Given the description of an element on the screen output the (x, y) to click on. 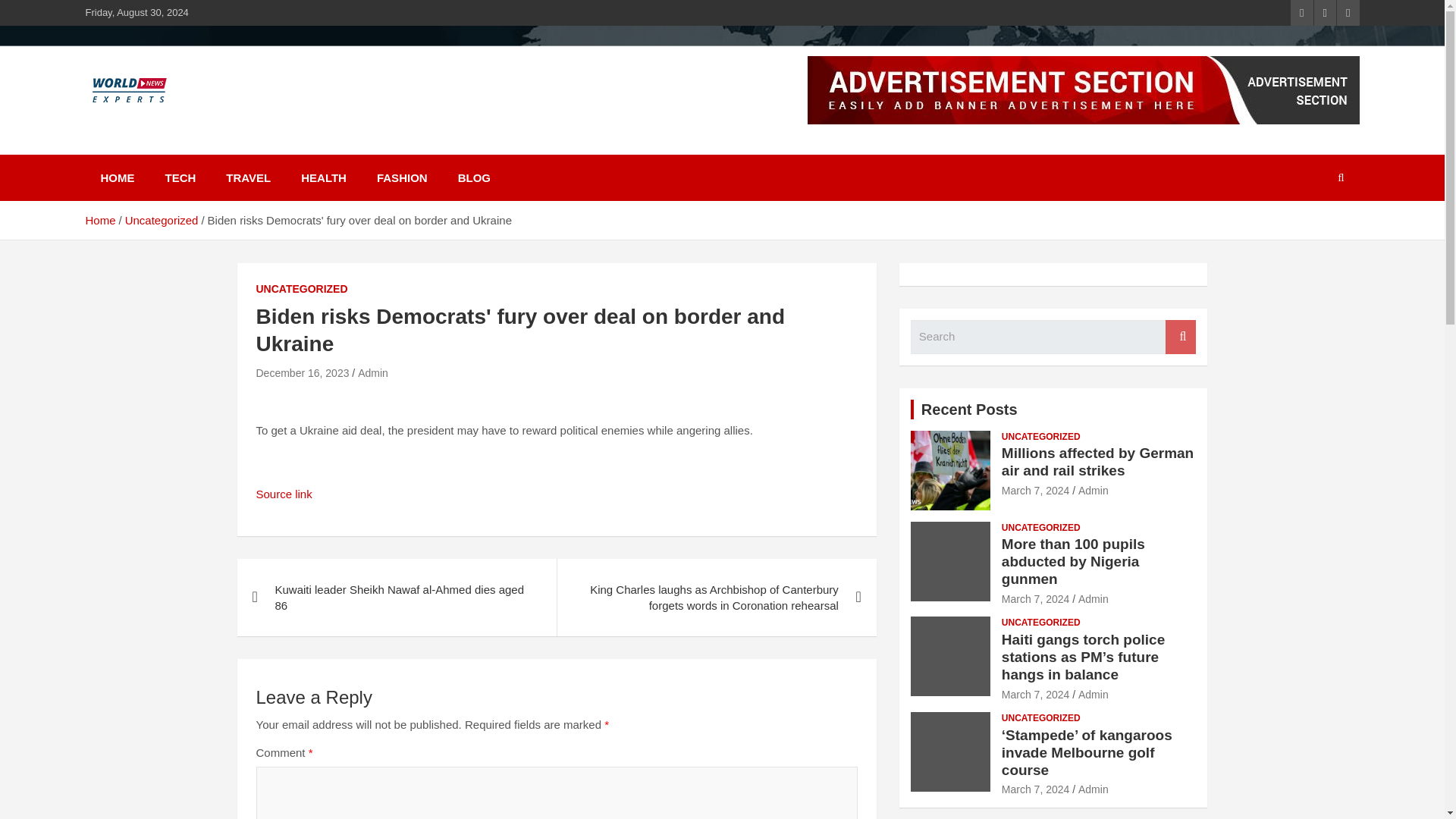
FASHION (401, 177)
Uncategorized (161, 219)
Millions affected by German air and rail strikes (1035, 490)
UNCATEGORIZED (1040, 527)
Home (99, 219)
Admin (1093, 598)
TECH (180, 177)
UNCATEGORIZED (1040, 436)
Recent Posts (969, 409)
